Given the description of an element on the screen output the (x, y) to click on. 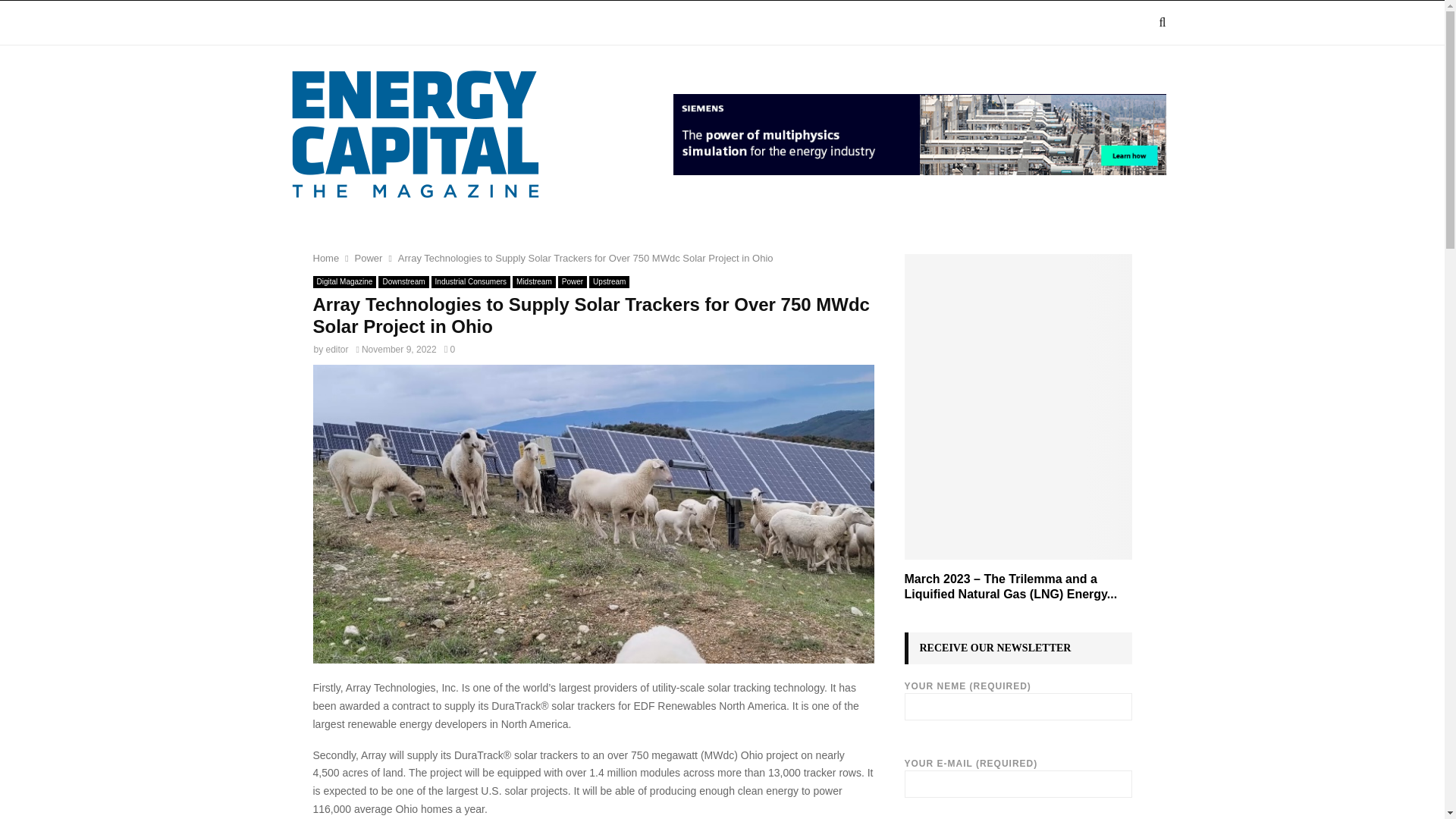
SECTORS (474, 22)
MAGAZINE (383, 22)
HOME (308, 22)
